Given the description of an element on the screen output the (x, y) to click on. 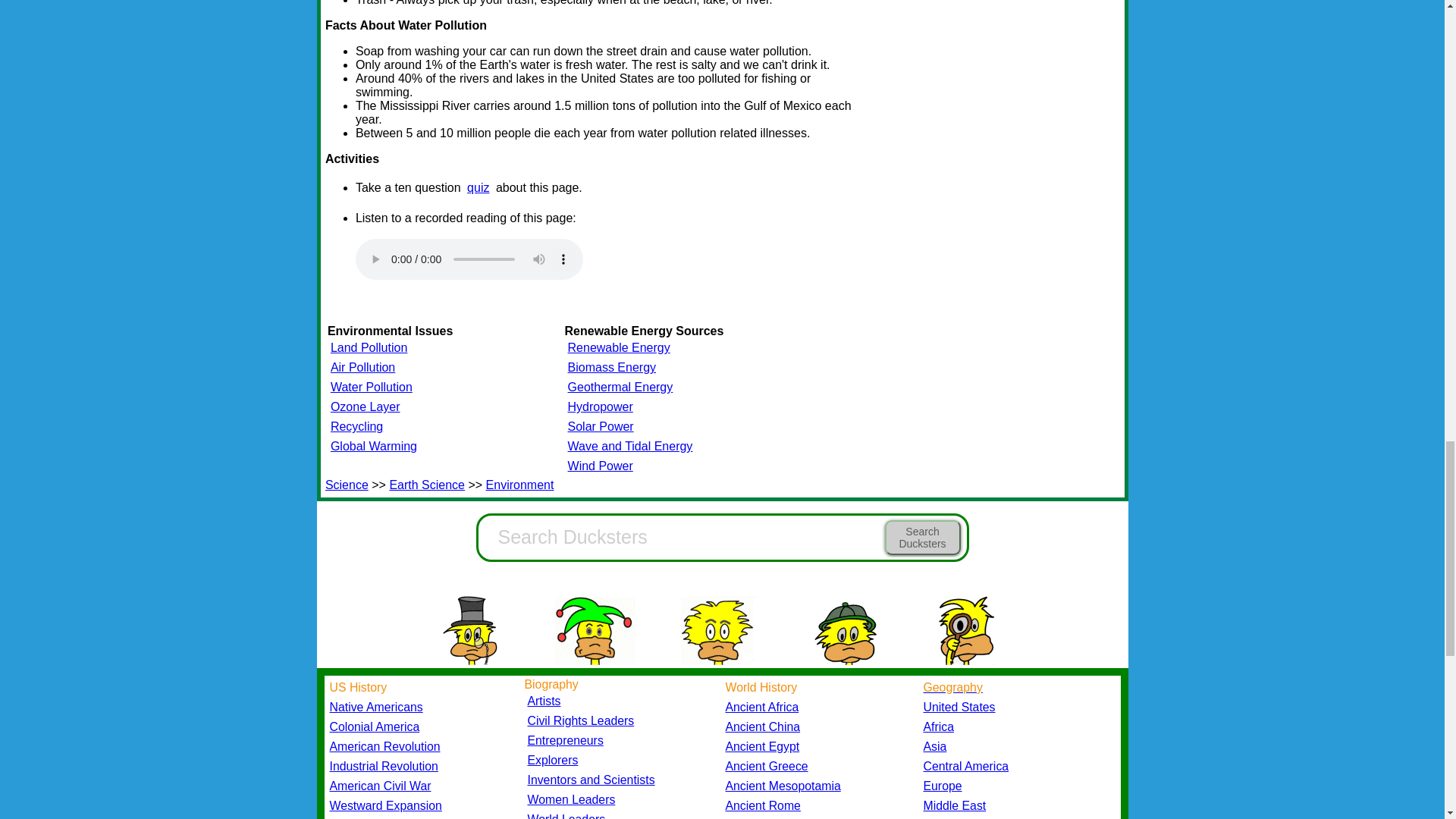
US History (358, 687)
American Revolution (384, 746)
Water Pollution (371, 386)
Wind Power (600, 466)
Colonial America (374, 726)
Native Americans (375, 707)
Land Pollution (368, 347)
Biomass Energy (611, 367)
Air Pollution (362, 367)
Search Ducksters (921, 537)
